Given the description of an element on the screen output the (x, y) to click on. 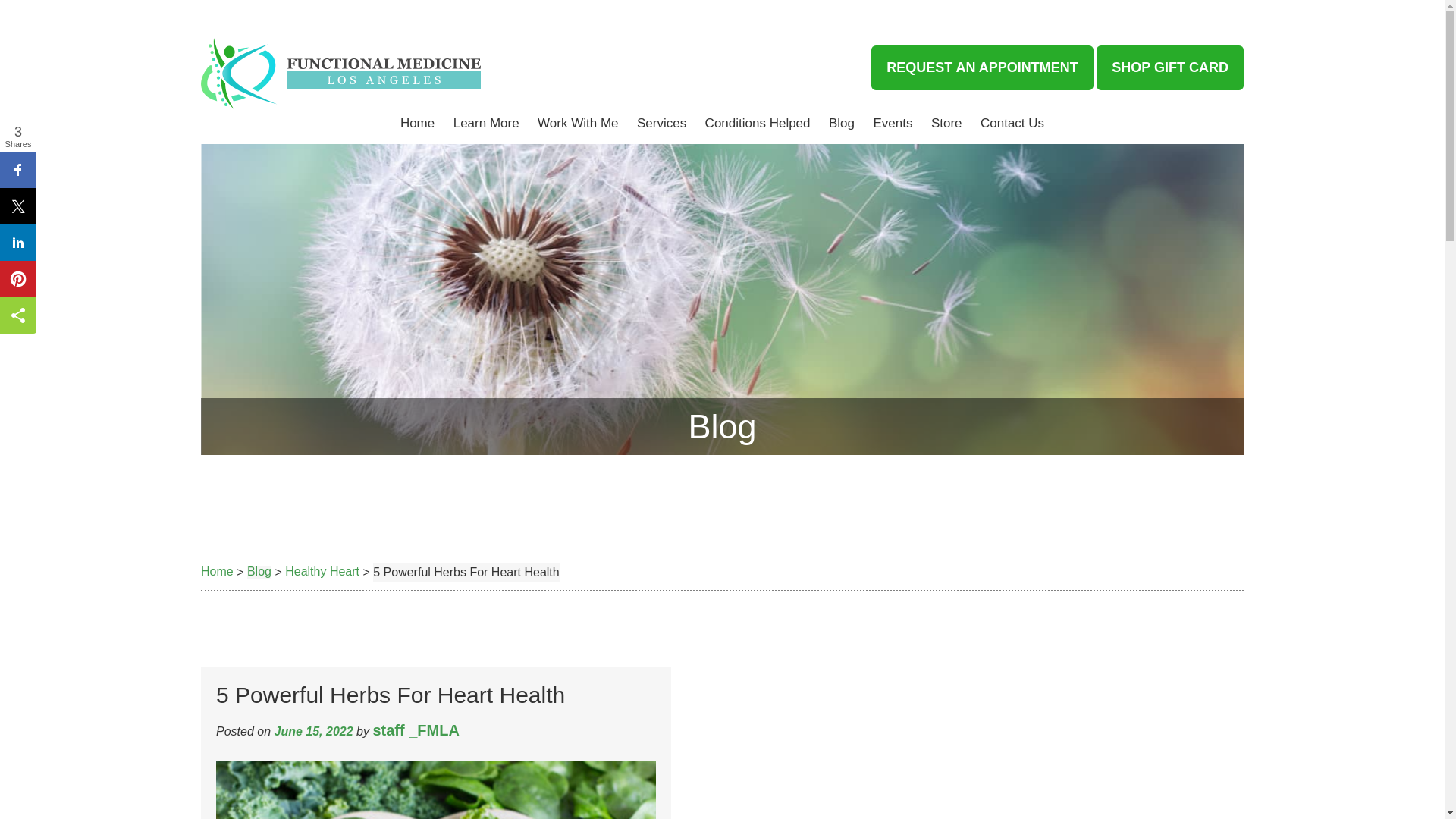
Go to Home. (216, 571)
Blog (258, 571)
Home (216, 571)
Go to the Healthy Heart category archives. (322, 571)
Services (661, 123)
Healthy Heart (322, 571)
June 15, 2022 (314, 730)
Go to Blog. (258, 571)
Home (417, 123)
Conditions Helped (757, 123)
Store (946, 123)
Contact Us (1011, 123)
Blog (841, 123)
Work With Me (577, 123)
Events (892, 123)
